Given the description of an element on the screen output the (x, y) to click on. 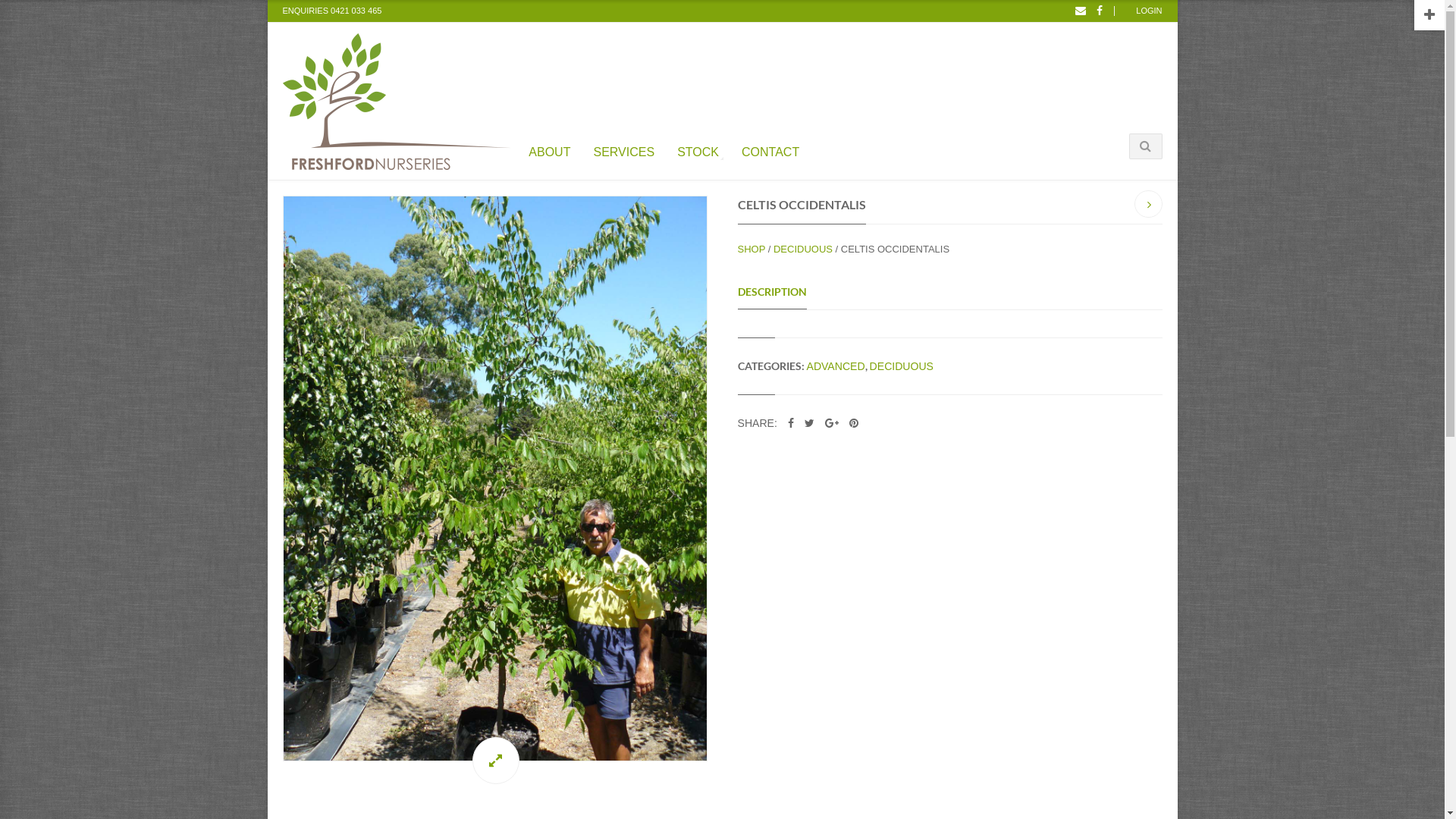
DECIDUOUS Element type: text (901, 366)
0421 033 465 Element type: text (355, 11)
CONTACT Element type: text (770, 149)
Celtis occidentalis 1 Element type: hover (494, 478)
DESCRIPTION Element type: text (771, 292)
SERVICES Element type: text (623, 149)
ABOUT Element type: text (549, 149)
SHOP Element type: text (751, 248)
STOCK Element type: text (697, 149)
DECIDUOUS Element type: text (802, 248)
ADVANCED Element type: text (835, 366)
LOGIN Element type: text (1148, 10)
Search Element type: text (1071, 220)
